Given the description of an element on the screen output the (x, y) to click on. 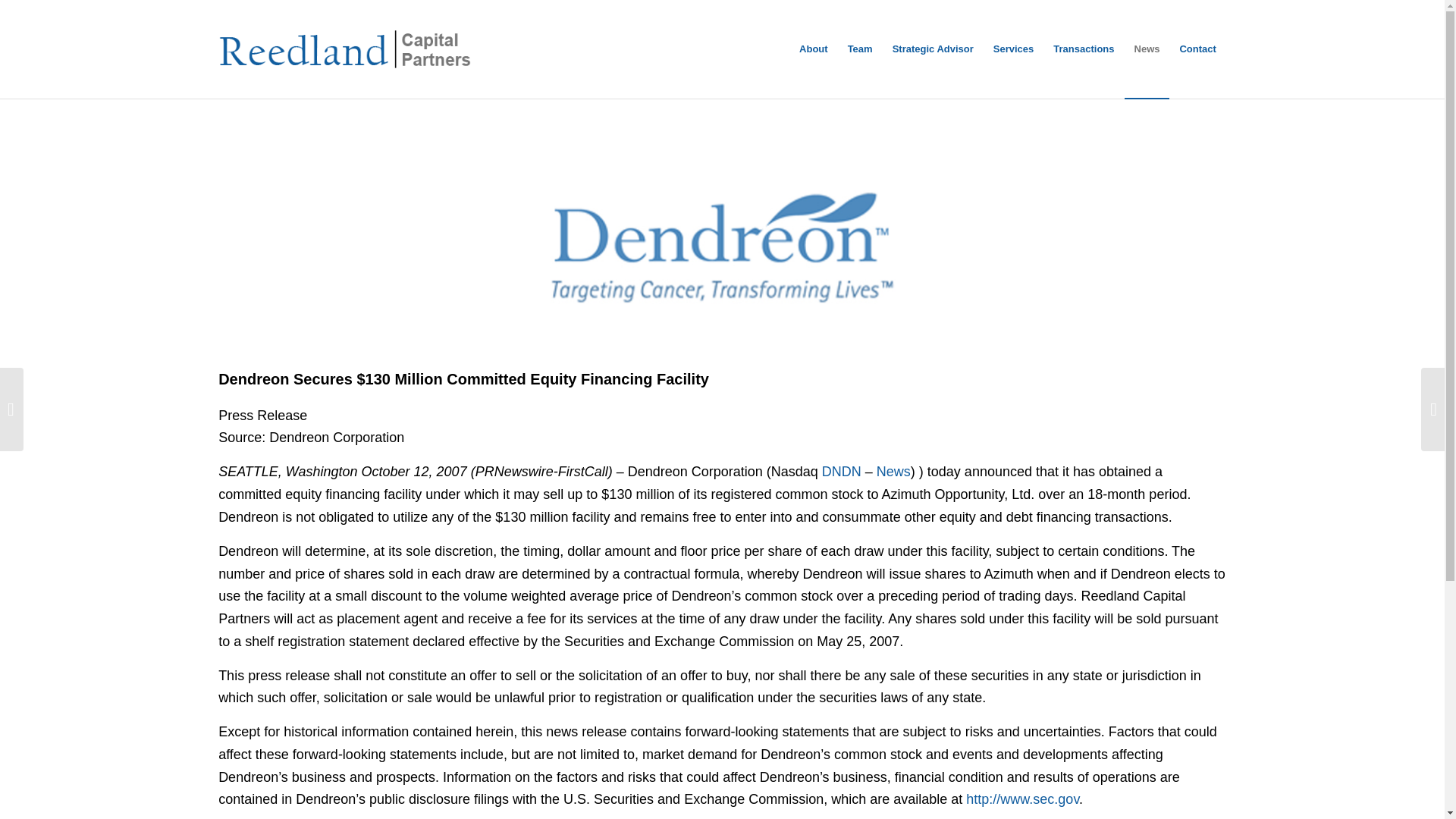
News (893, 471)
Reedland-Capital-Partners-Logo (344, 49)
DNDN (841, 471)
Dendreon (721, 244)
Strategic Advisor (933, 49)
